Given the description of an element on the screen output the (x, y) to click on. 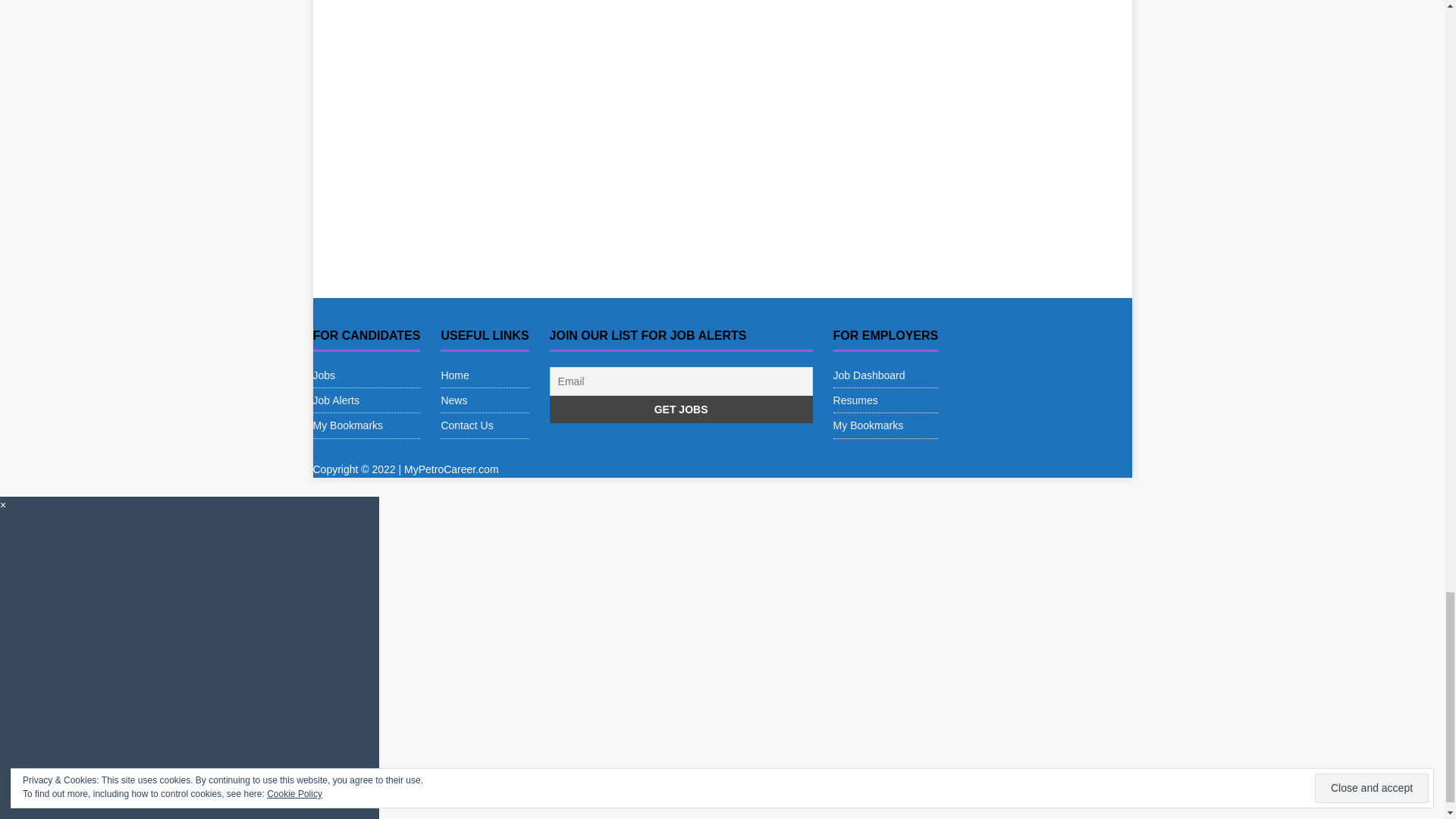
Get Jobs (681, 409)
